Given the description of an element on the screen output the (x, y) to click on. 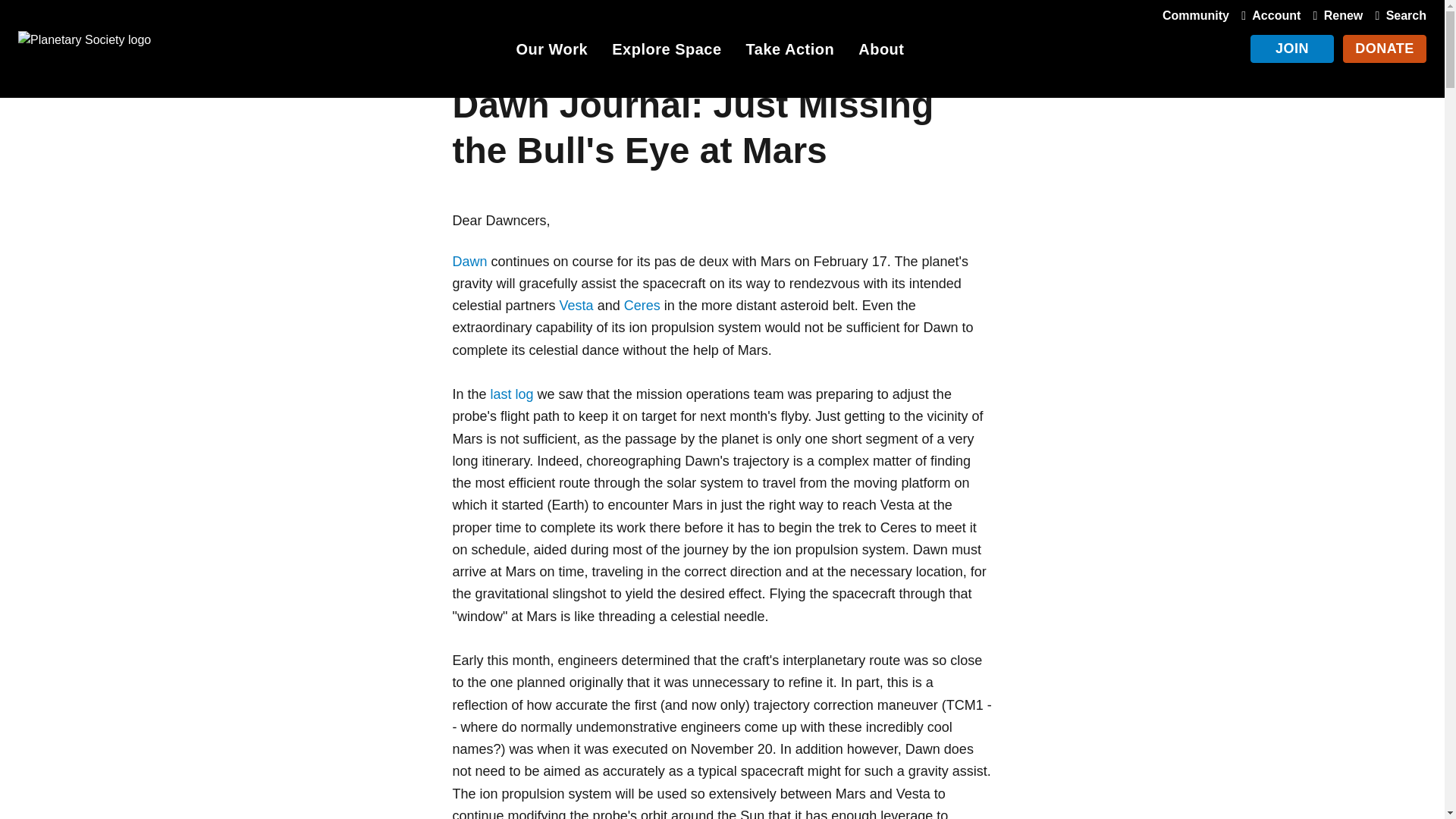
JOIN (1291, 49)
Account (1267, 15)
Take Action (789, 51)
Explore Space (665, 51)
Community (1194, 15)
Search (1397, 15)
Renew (1334, 15)
About (881, 51)
Our Work (551, 51)
DONATE (1384, 49)
